Given the description of an element on the screen output the (x, y) to click on. 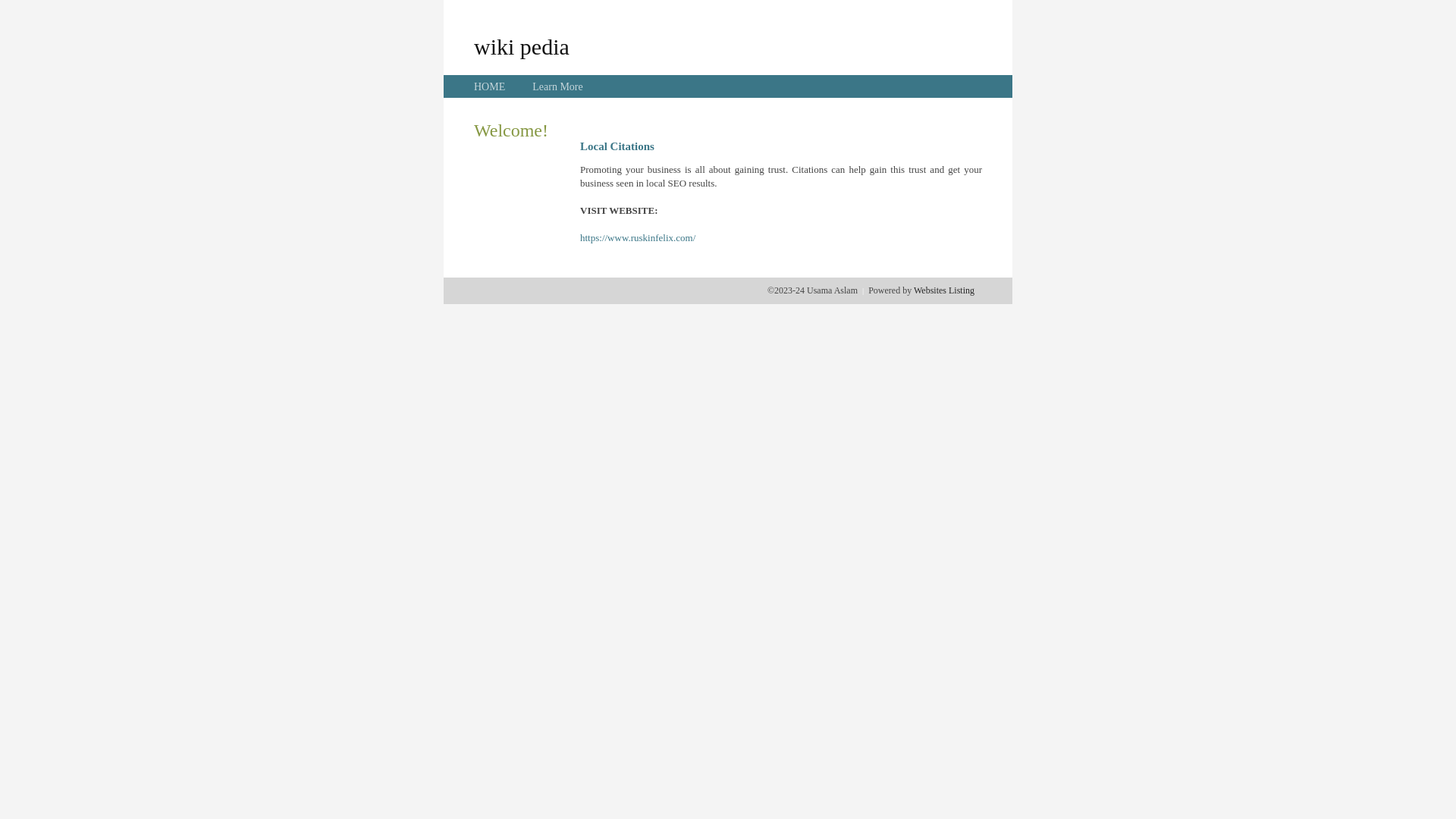
Websites Listing Element type: text (943, 290)
https://www.ruskinfelix.com/ Element type: text (637, 237)
HOME Element type: text (489, 86)
wiki pedia Element type: text (521, 46)
Learn More Element type: text (557, 86)
